Given the description of an element on the screen output the (x, y) to click on. 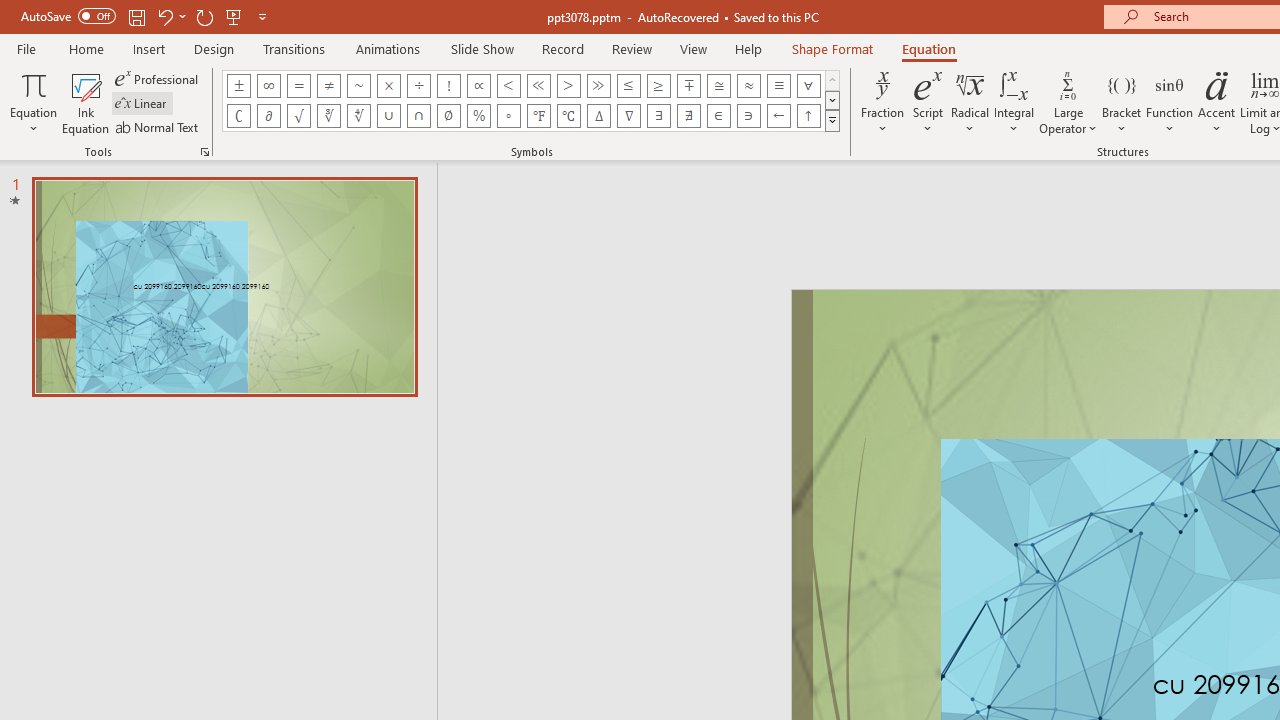
Equation Symbol Degrees Fahrenheit (538, 115)
Linear (142, 103)
Equation Symbol Complement (238, 115)
Equation Symbol Division Sign (418, 85)
Equation Symbol Partial Differential (268, 115)
Equation Symbol Identical To (778, 85)
Integral (1014, 102)
Equation Symbol For All (808, 85)
